Given the description of an element on the screen output the (x, y) to click on. 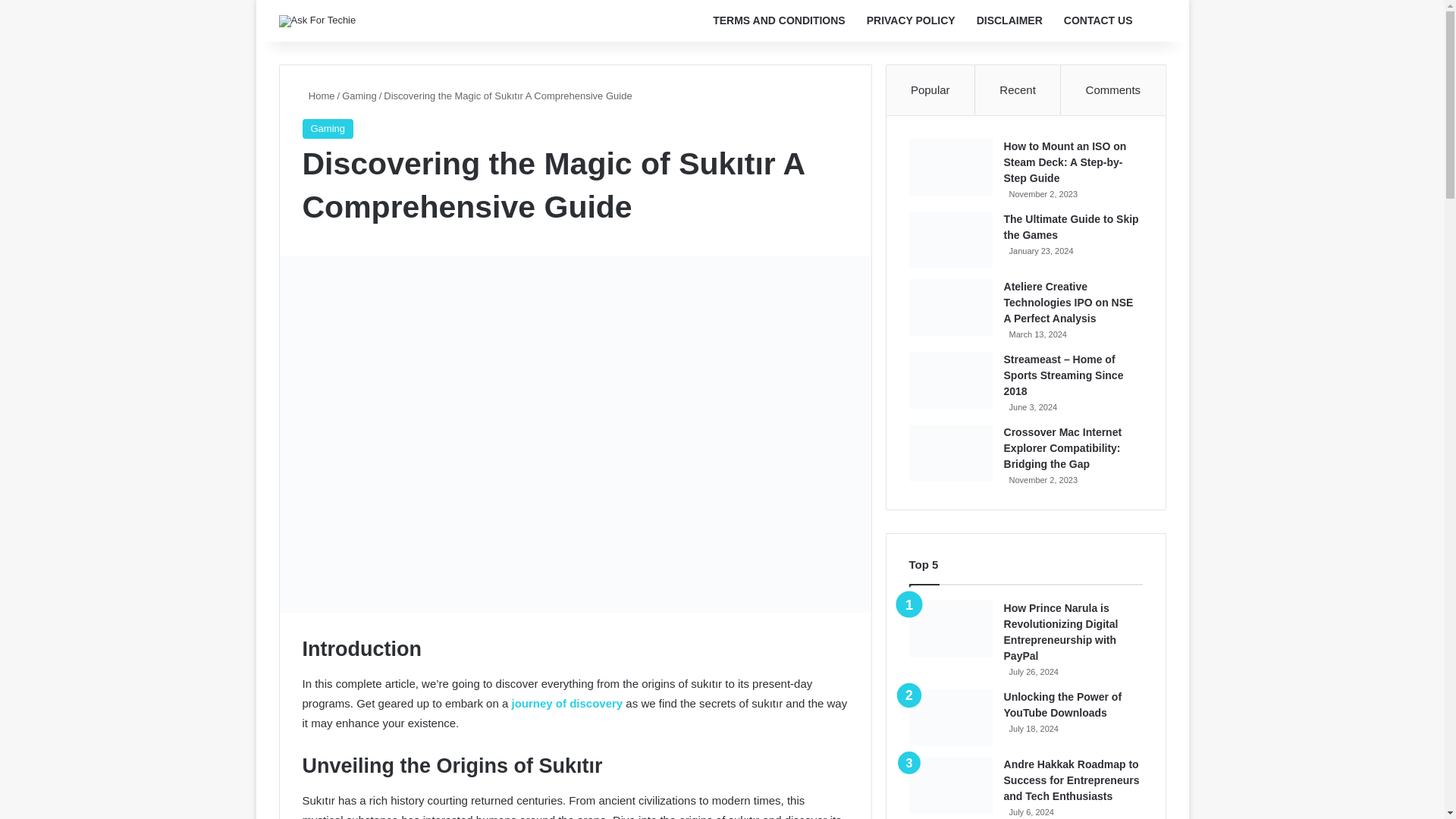
DISCLAIMER (1009, 20)
The Ultimate Guide to Skip the Games (1071, 226)
Gaming (327, 128)
Ask For Techie (317, 21)
CONTACT US (1097, 20)
Comments (1112, 90)
PRIVACY POLICY (911, 20)
Gaming (359, 95)
How to Mount an ISO on Steam Deck: A Step-by-Step Guide (1065, 162)
